Given the description of an element on the screen output the (x, y) to click on. 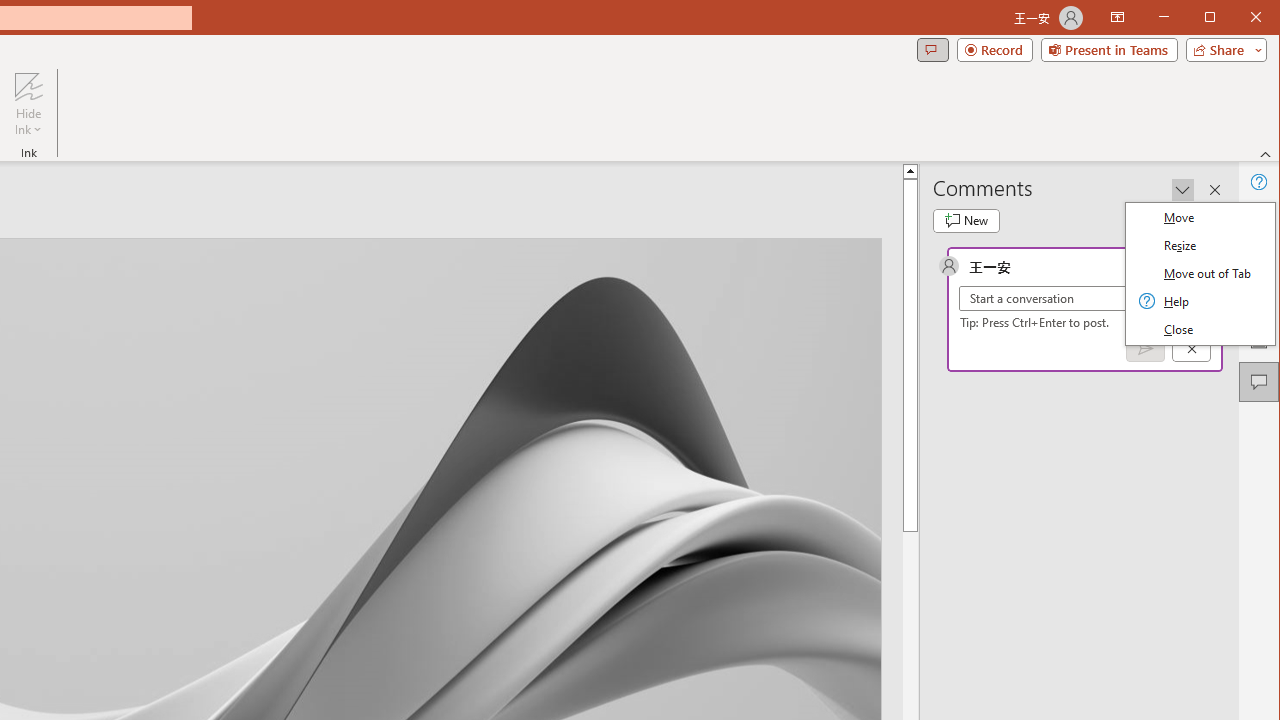
Ribbon Display Options (1117, 17)
Line up (1229, 170)
More Options (28, 123)
Maximize (1238, 18)
Close pane (1215, 189)
Class: Net UI Tool Window (1200, 274)
Share (1222, 49)
Help (1258, 182)
Hide Ink (28, 104)
Minimize (1216, 18)
Present in Teams (1108, 49)
Collapse the Ribbon (1266, 154)
Comments (1258, 381)
